Given the description of an element on the screen output the (x, y) to click on. 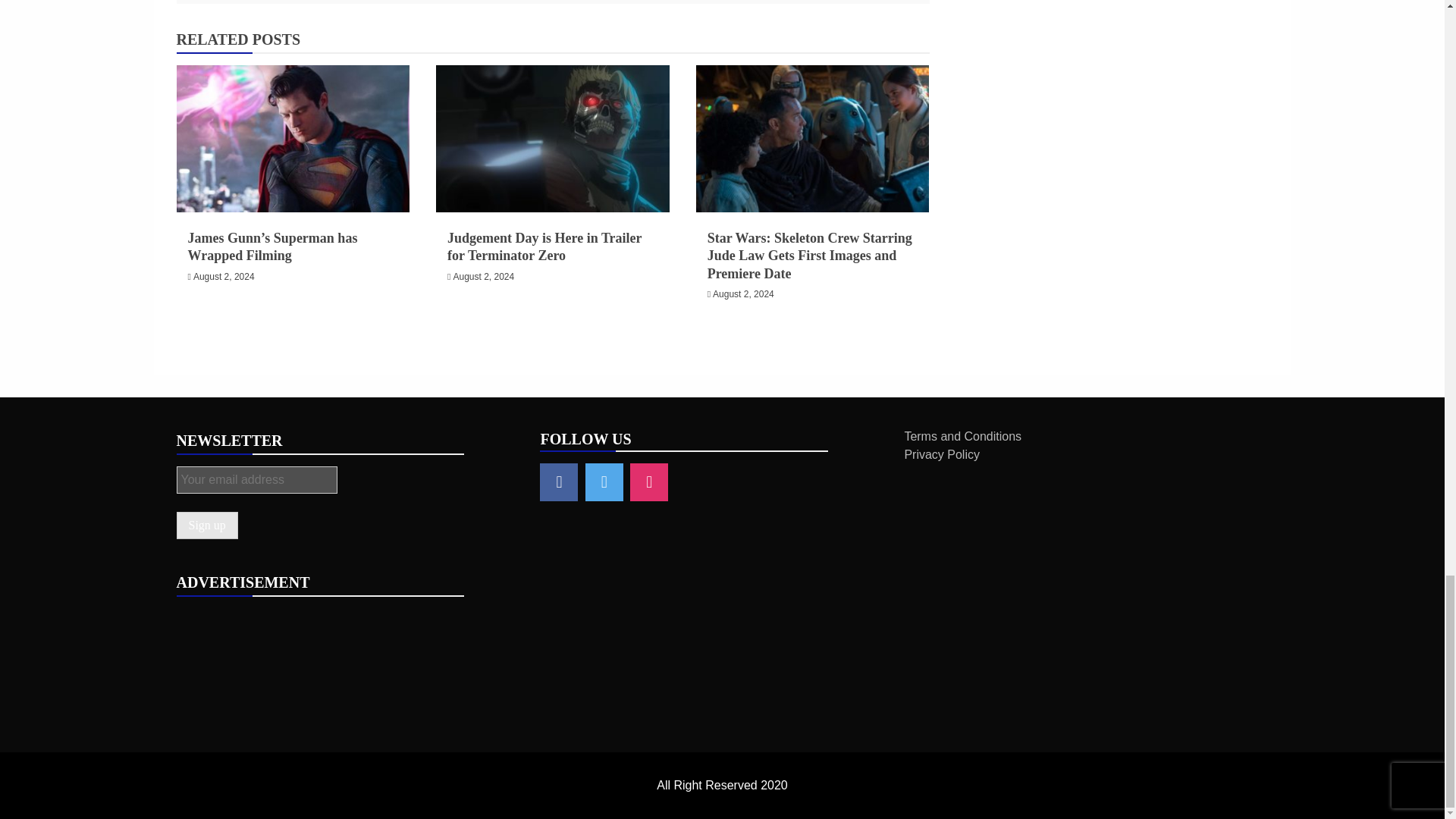
Judgement Day is Here in Trailer for Terminator Zero 3 (552, 138)
Sign up (206, 524)
Advertisement (721, 680)
